Given the description of an element on the screen output the (x, y) to click on. 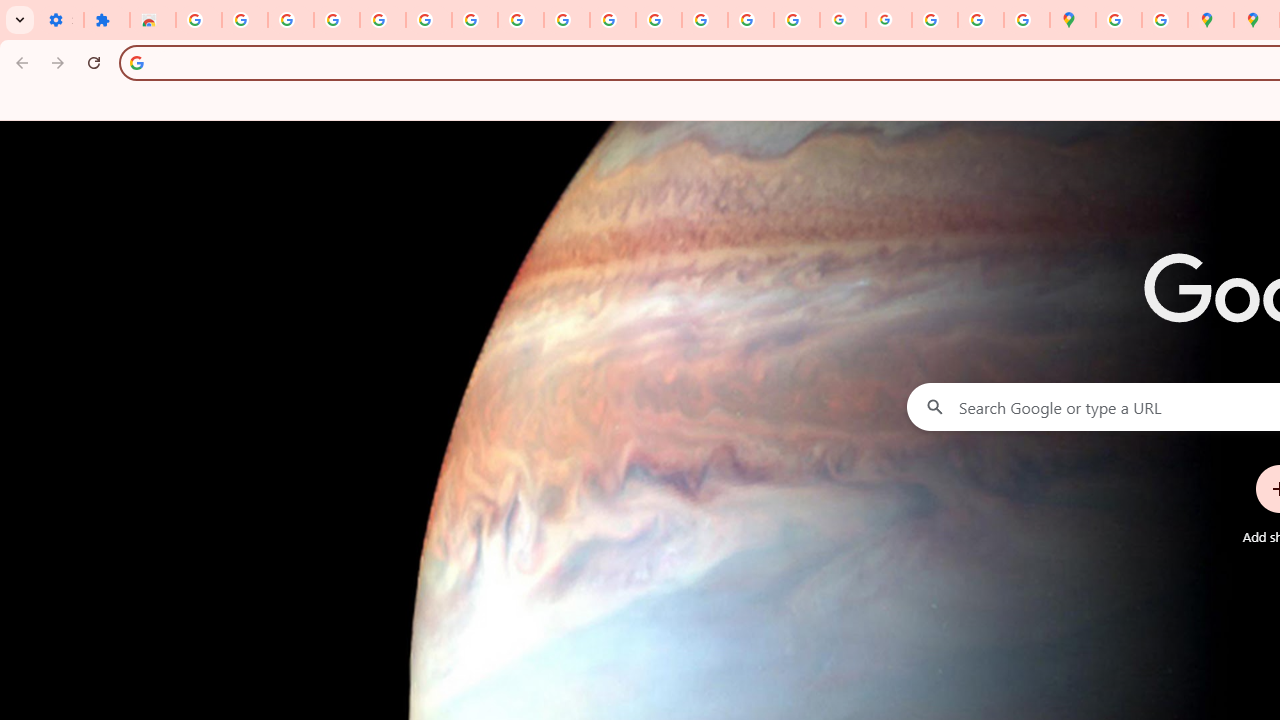
Settings - On startup (60, 20)
Sign in - Google Accounts (428, 20)
Extensions (107, 20)
Learn how to find your photos - Google Photos Help (336, 20)
Delete photos & videos - Computer - Google Photos Help (290, 20)
YouTube (567, 20)
